Given the description of an element on the screen output the (x, y) to click on. 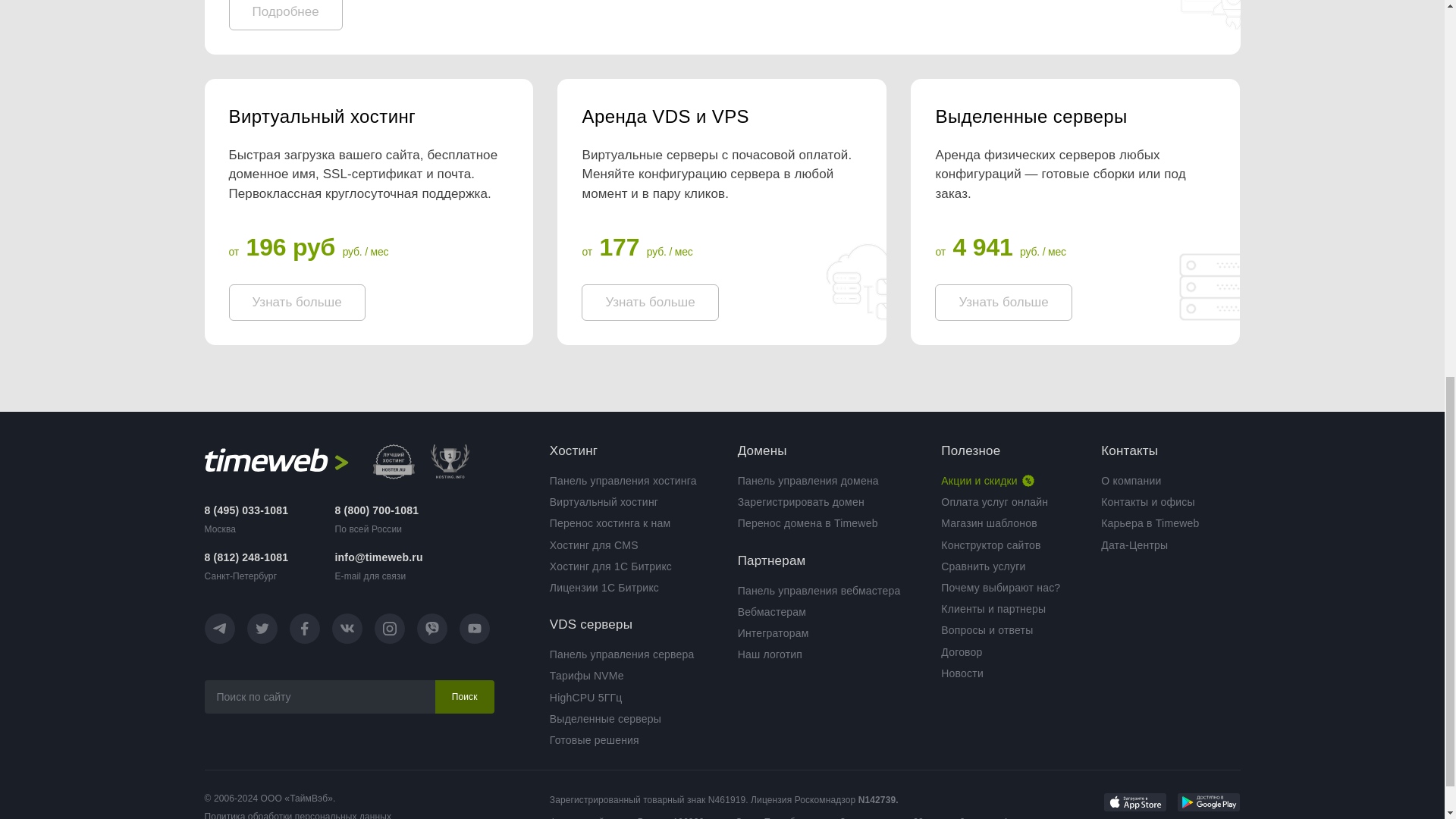
VDS (720, 116)
